Given the description of an element on the screen output the (x, y) to click on. 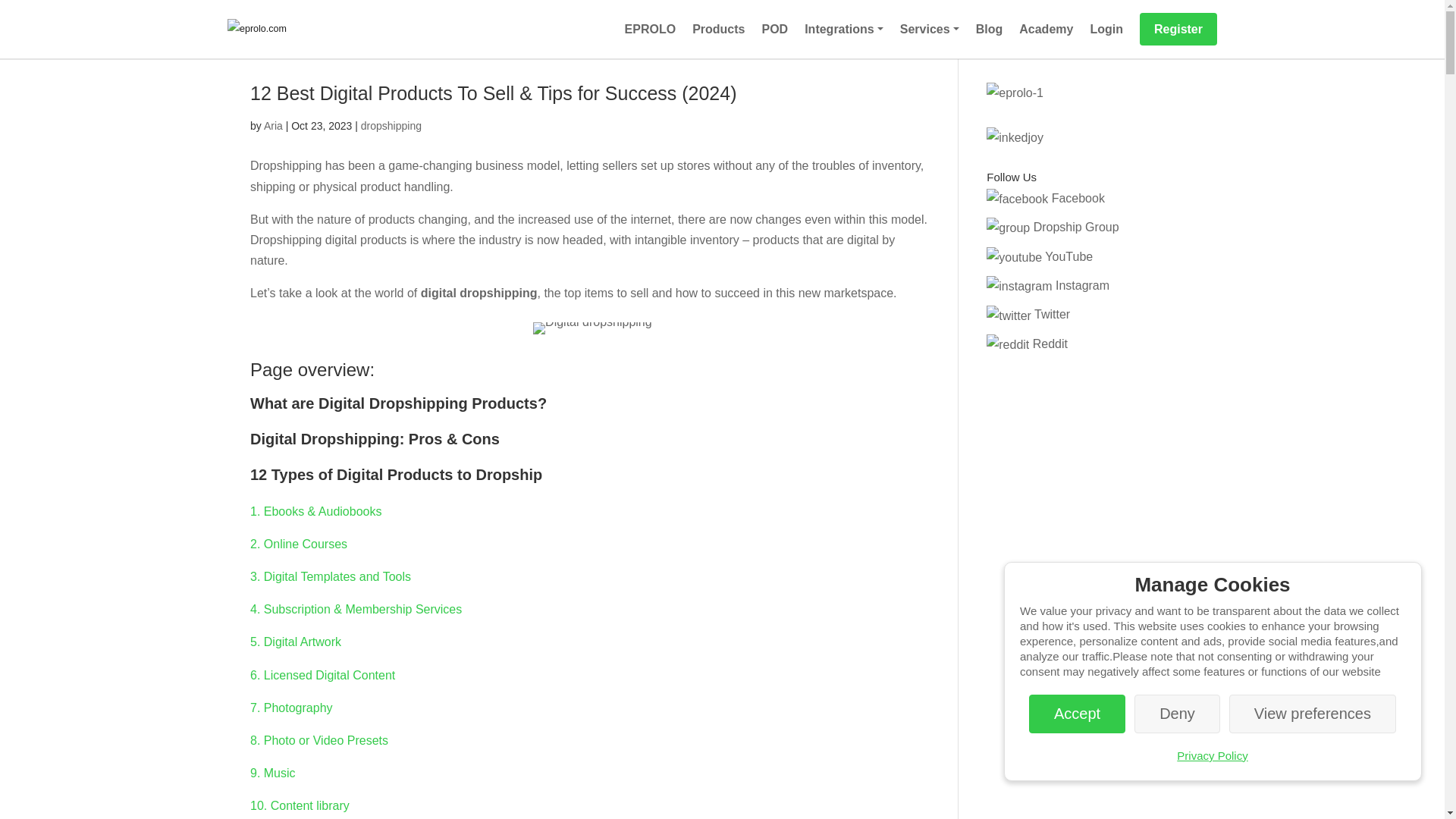
10. Content library (299, 805)
Login (1105, 28)
6. Licensed Digital Content (322, 675)
3. Digital Templates and Tools (330, 576)
Aria (272, 125)
What are Digital Dropshipping Products? (398, 402)
8. Photo or Video Presets (319, 739)
Academy (1046, 28)
EPROLO (650, 28)
2. Online Courses (298, 543)
